Given the description of an element on the screen output the (x, y) to click on. 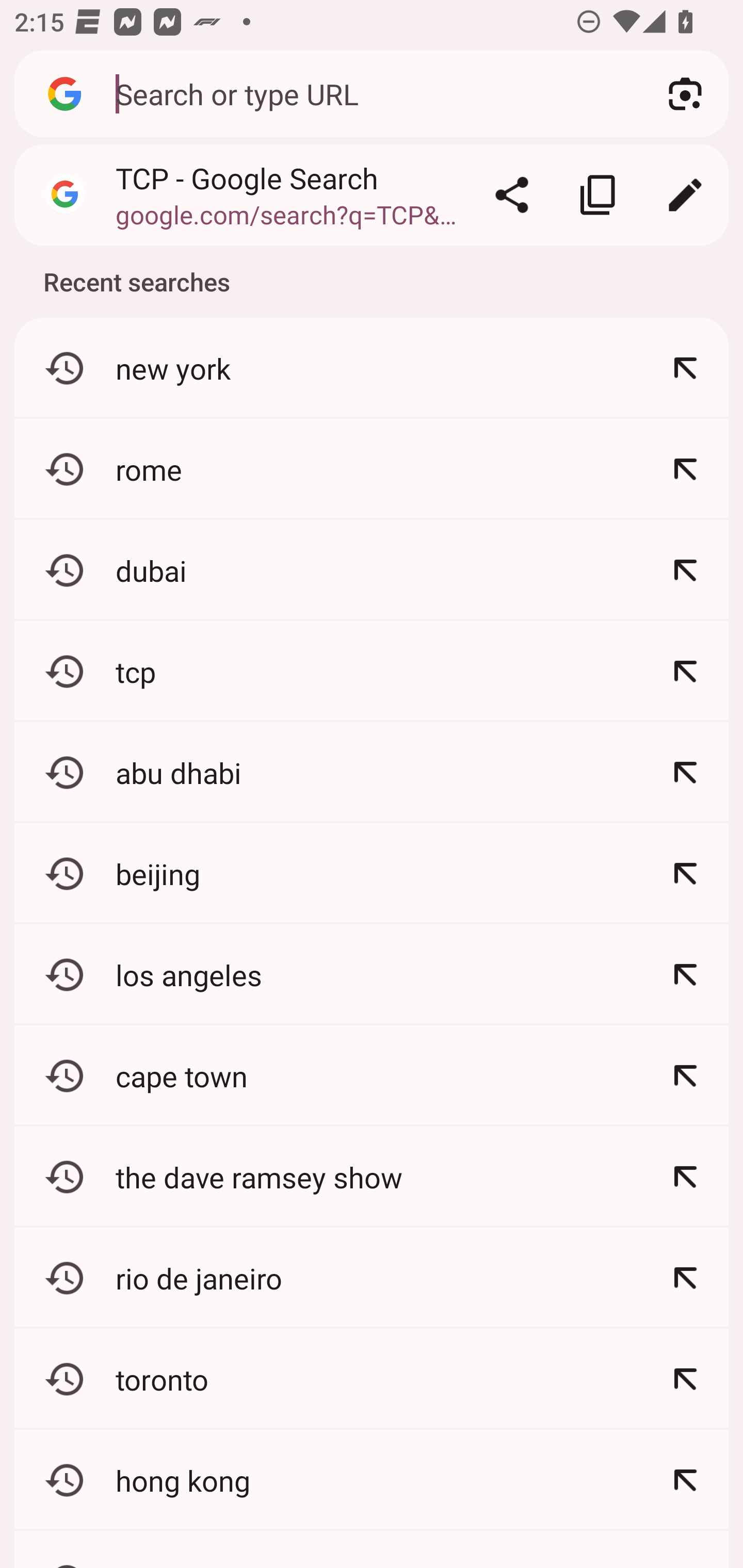
Search with your camera using Google Lens (684, 93)
Search or type URL (367, 92)
Share… (511, 195)
Copy link (598, 195)
Edit (684, 195)
new york Refine: new york (371, 368)
Refine: new york (684, 368)
rome Refine: rome (371, 469)
Refine: rome (684, 469)
dubai Refine: dubai (371, 570)
Refine: dubai (684, 570)
tcp Refine: tcp (371, 671)
Refine: tcp (684, 671)
abu dhabi Refine: abu dhabi (371, 772)
Refine: abu dhabi (684, 772)
beijing Refine: beijing (371, 873)
Refine: beijing (684, 873)
los angeles Refine: los angeles (371, 974)
Refine: los angeles (684, 974)
cape town Refine: cape town (371, 1075)
Refine: cape town (684, 1075)
the dave ramsey show Refine: the dave ramsey show (371, 1176)
Refine: the dave ramsey show (684, 1176)
rio de janeiro Refine: rio de janeiro (371, 1277)
Refine: rio de janeiro (684, 1277)
toronto Refine: toronto (371, 1379)
Refine: toronto (684, 1379)
hong kong Refine: hong kong (371, 1480)
Refine: hong kong (684, 1480)
